Given the description of an element on the screen output the (x, y) to click on. 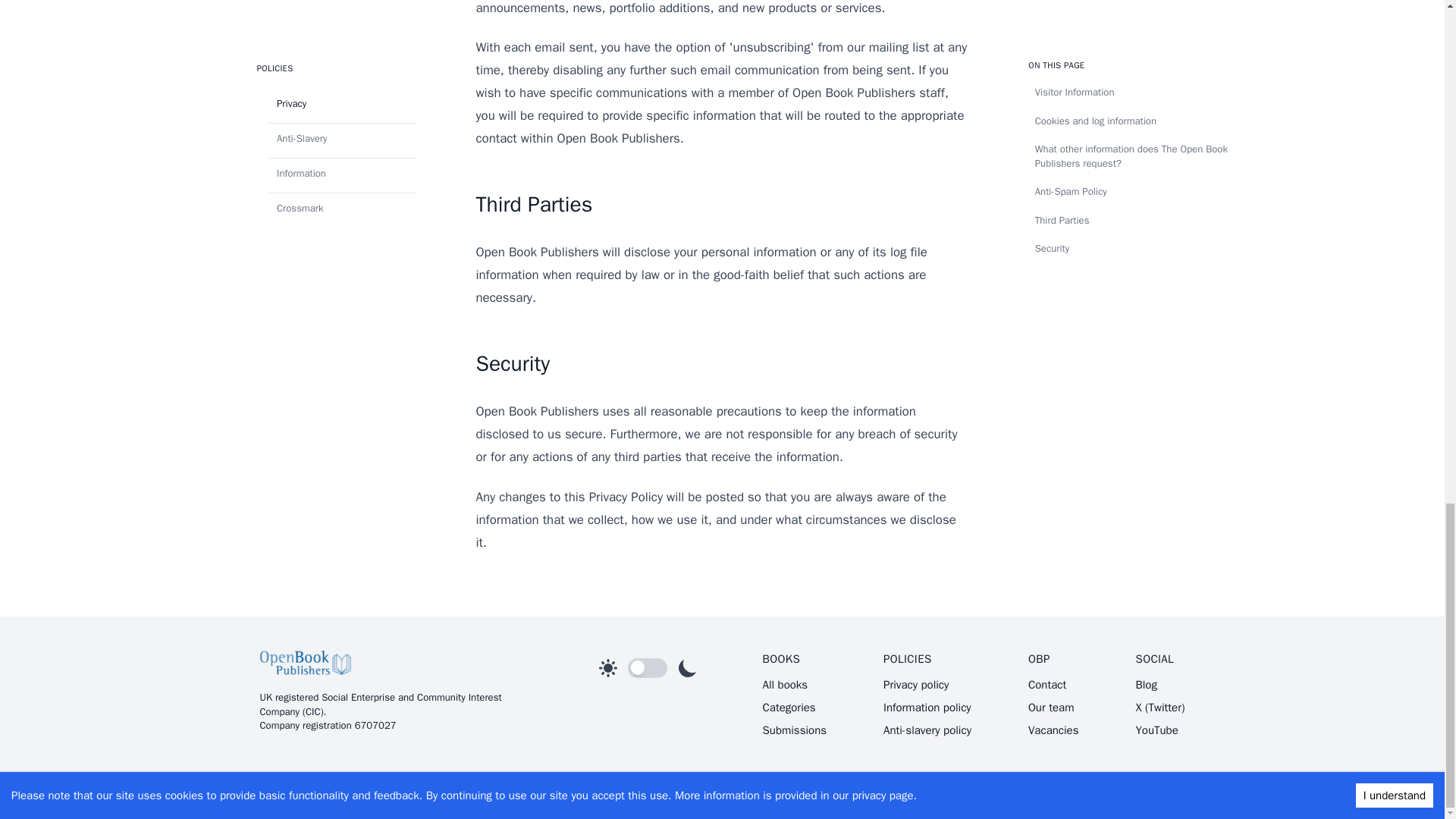
All books (785, 684)
Contact (1046, 684)
Privacy policy (916, 684)
Categories (788, 707)
Vacancies (1052, 730)
Community Interest Company (379, 704)
Information policy (927, 707)
Anti-slavery policy (927, 730)
Submissions (794, 730)
Our team (1050, 707)
